Given the description of an element on the screen output the (x, y) to click on. 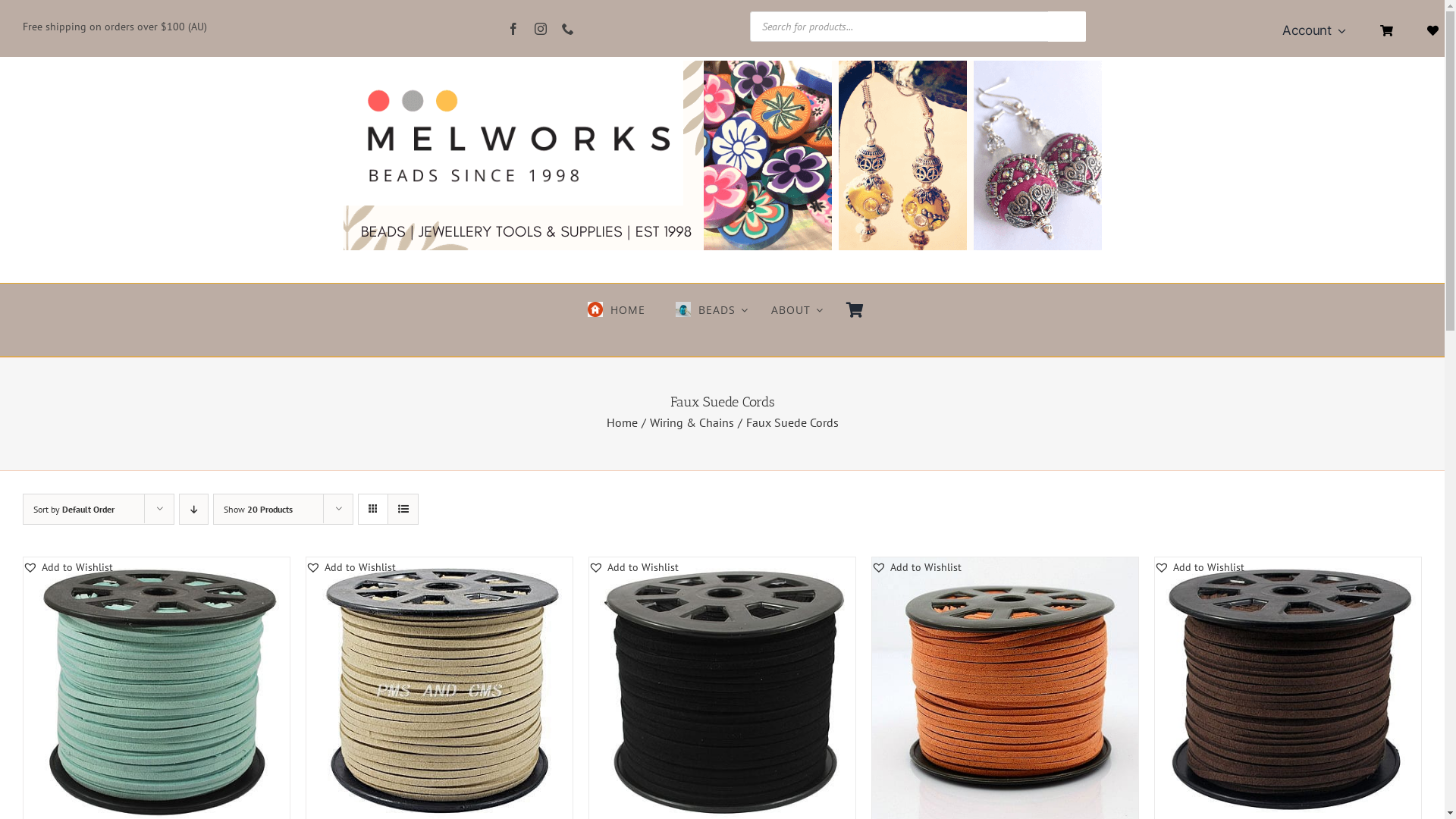
Show 20 Products Element type: text (257, 508)
Log In Element type: text (1408, 154)
Facebook Element type: hover (513, 28)
Instagram Element type: hover (540, 28)
Wiring & Chains Element type: text (691, 421)
Add to Wishlist Element type: text (350, 566)
Add to Wishlist Element type: text (67, 566)
BEADS Element type: text (708, 304)
Sort by Default Order Element type: text (73, 508)
european beads Element type: hover (682, 308)
Add to Wishlist Element type: text (1199, 566)
HOME Element type: text (612, 304)
Home Element type: text (621, 421)
Add to Wishlist Element type: text (633, 566)
Add to Wishlist Element type: text (916, 566)
home-icon Element type: hover (594, 308)
ABOUT Element type: text (797, 304)
Account Element type: text (1319, 30)
Phone Element type: hover (567, 28)
1 Meter Aquamarine Faux Suede Flat Chord - (3mm) 1 Element type: hover (721, 155)
